Given the description of an element on the screen output the (x, y) to click on. 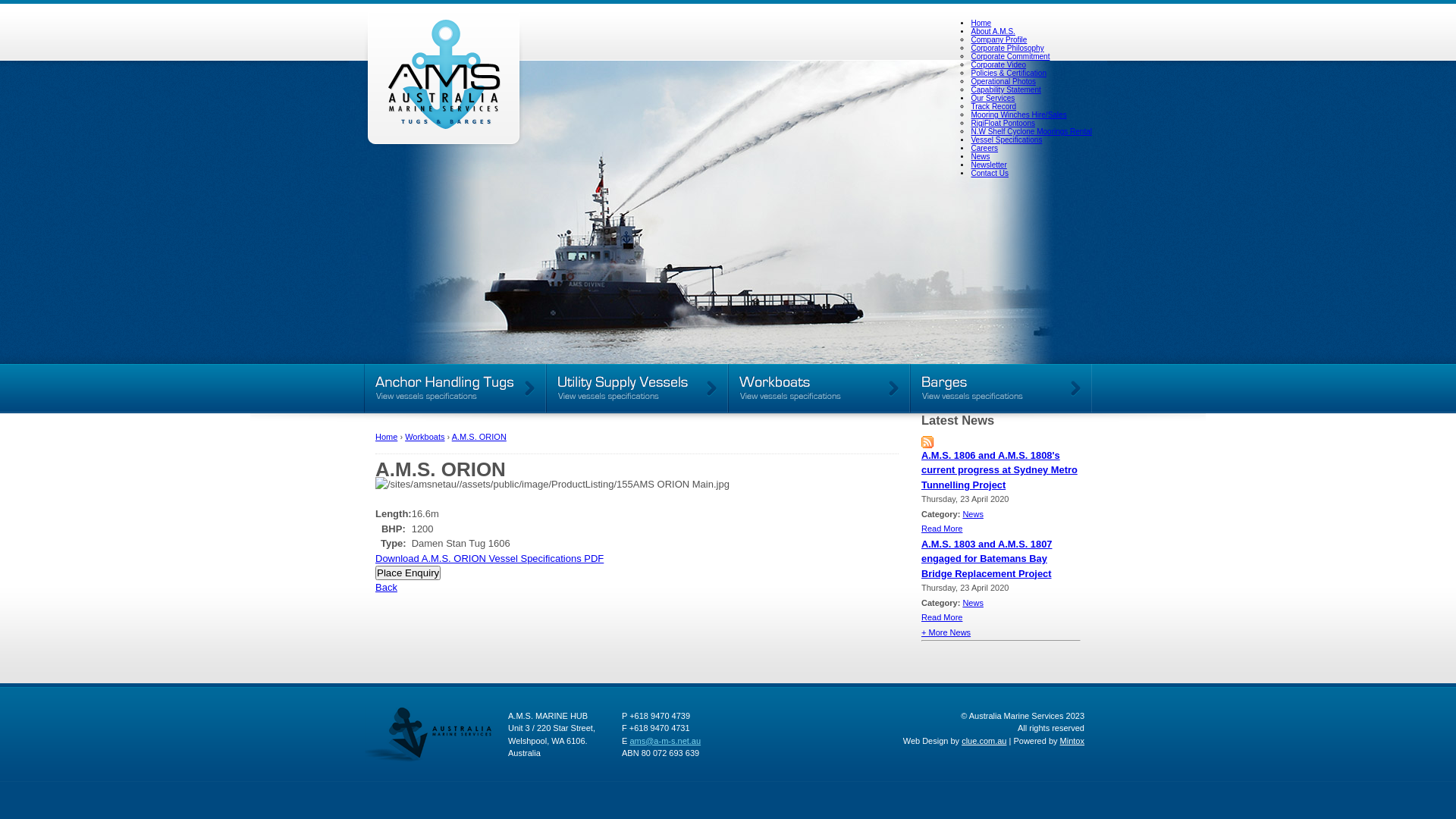
Home Element type: text (386, 436)
Anchor Handling Tugs (View vessels specifications) Element type: text (455, 388)
Workboats (View vessels specifications) Element type: text (819, 388)
Newsletter Element type: text (988, 164)
Mintox Element type: text (1072, 739)
News Element type: text (979, 156)
About A.M.S. Element type: text (992, 31)
Barges (View vessels specifications) Element type: text (1001, 388)
Capability Statement Element type: text (1005, 89)
Place Enquiry Element type: text (407, 572)
Operational Photos Element type: text (1002, 81)
Home Element type: text (980, 22)
Corporate Philosophy Element type: text (1006, 47)
Track Record Element type: text (993, 106)
Read More Element type: text (941, 616)
Corporate Video Element type: text (998, 64)
Our Services Element type: text (992, 98)
Policies & Certification Element type: text (1007, 73)
+ More News Element type: text (945, 632)
Download A.M.S. ORION Vessel Specifications PDF Element type: text (489, 557)
Back Element type: text (386, 587)
Company Profile Element type: text (998, 39)
A.M.S. ORION Element type: text (478, 436)
Utility Supply Vessels (View vessels specifications) Element type: text (637, 388)
ams@a-m-s.net.au Element type: text (664, 739)
Workboats Element type: text (424, 436)
Vessel Specifications Element type: text (1005, 139)
Corporate Commitment Element type: text (1009, 56)
clue.com.au Element type: text (983, 739)
News Element type: text (972, 601)
RigiFloat Pontoons Element type: text (1002, 123)
Mooring Winches Hire/Sales Element type: text (1018, 114)
N.W Shelf Cyclone Moorings Rental Element type: text (1031, 131)
Contact Us Element type: text (988, 173)
News Element type: text (972, 513)
Read More Element type: text (941, 528)
Careers Element type: text (983, 148)
